Given the description of an element on the screen output the (x, y) to click on. 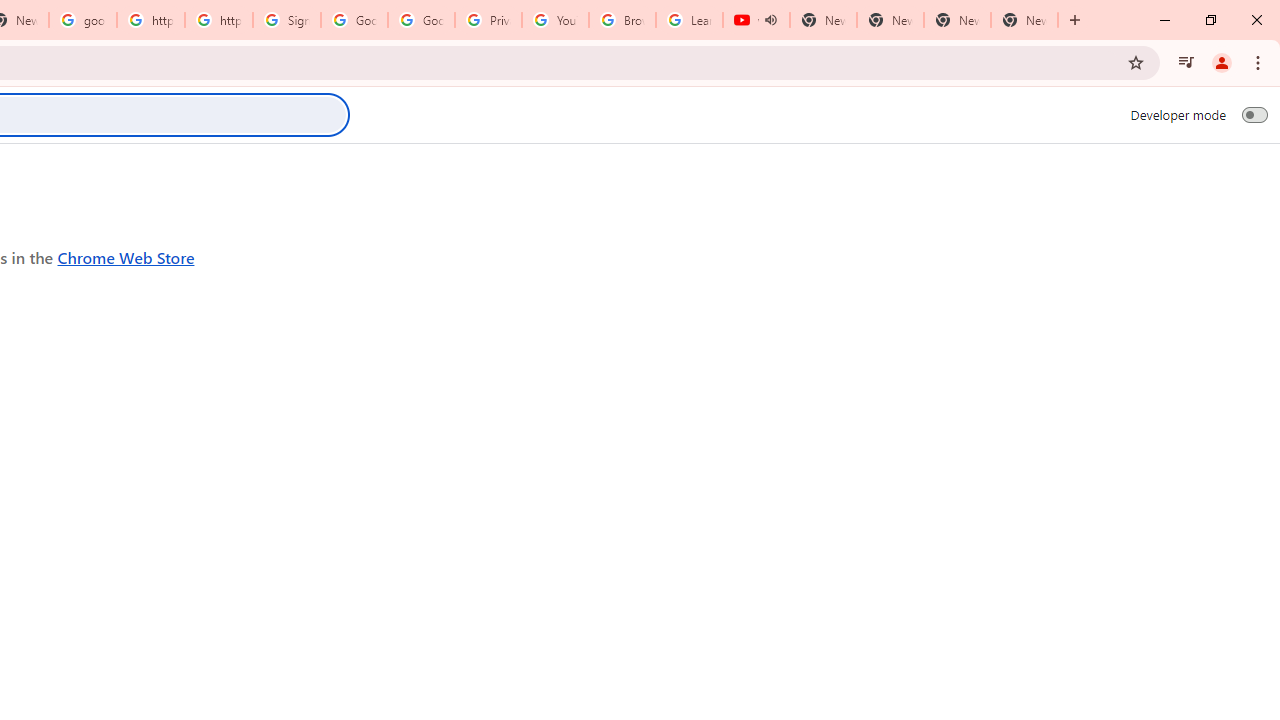
Sign in - Google Accounts (287, 20)
https://scholar.google.com/ (219, 20)
